Given the description of an element on the screen output the (x, y) to click on. 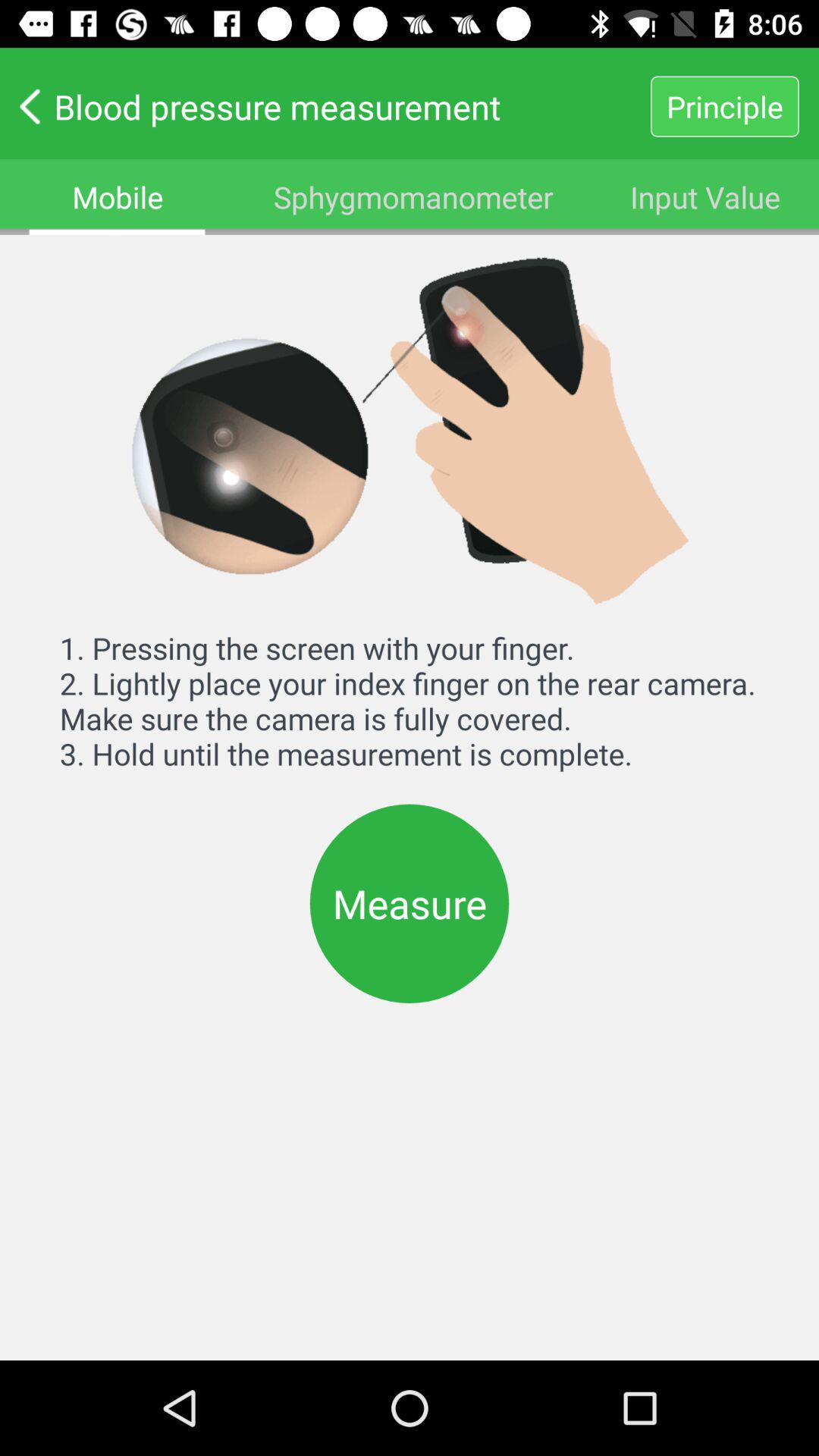
launch the item to the right of the blood pressure measurement icon (724, 106)
